Given the description of an element on the screen output the (x, y) to click on. 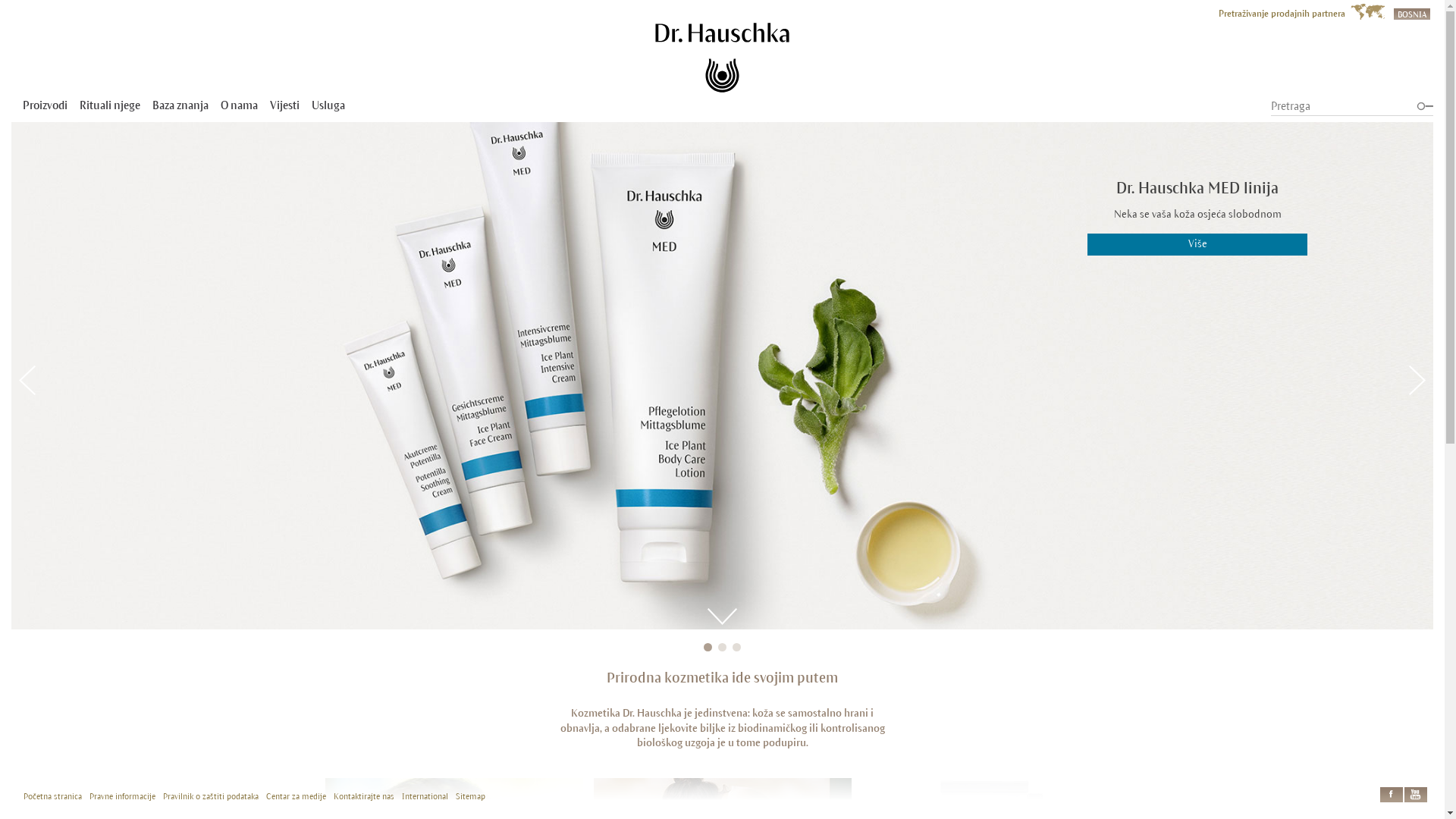
Proizvodi Element type: text (44, 105)
Baza znanja Element type: text (180, 105)
2 Element type: text (722, 647)
Usluga Element type: text (328, 105)
Dr. Hauschka Element type: text (722, 57)
Kontaktirajte nas Element type: text (363, 796)
Pravne informacije Element type: text (122, 796)
World Map Element type: text (1367, 11)
Previous Element type: text (27, 380)
Sitemap Element type: text (470, 796)
1 Element type: text (707, 647)
Vijesti Element type: text (284, 105)
3 Element type: text (736, 647)
Centar za medije Element type: text (296, 796)
O nama Element type: text (238, 105)
Next Element type: text (1416, 380)
BOSNIA Element type: text (1411, 12)
International Element type: text (424, 796)
Rituali njege Element type: text (109, 105)
